Given the description of an element on the screen output the (x, y) to click on. 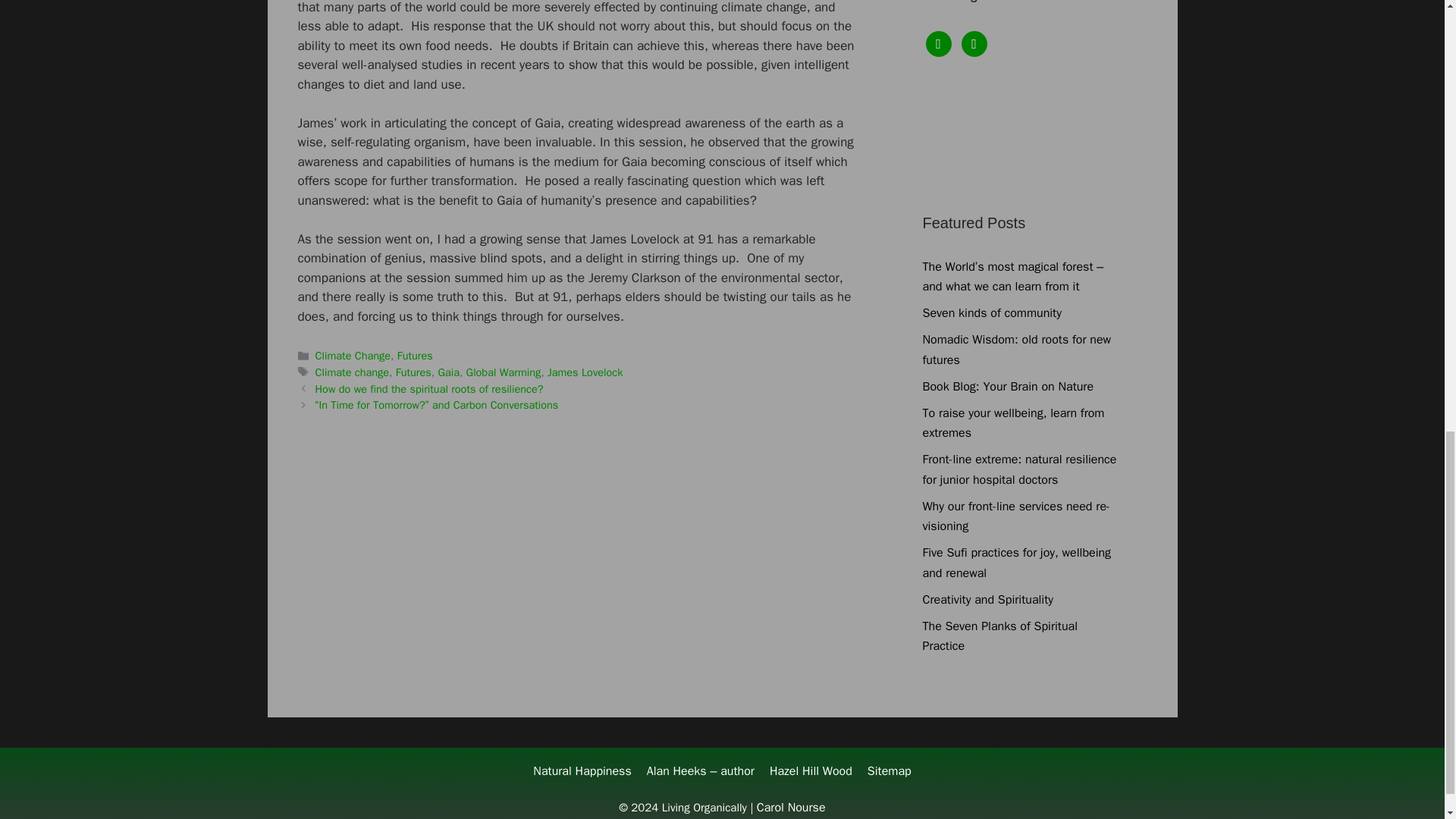
Facebook (937, 43)
Global Warming (503, 372)
Futures (414, 355)
Climate change (351, 372)
Climate Change (352, 355)
Twitter (973, 43)
Seven kinds of community (991, 313)
twitter (973, 43)
How do we find the spiritual roots of resilience? (429, 388)
facebook (937, 43)
